Given the description of an element on the screen output the (x, y) to click on. 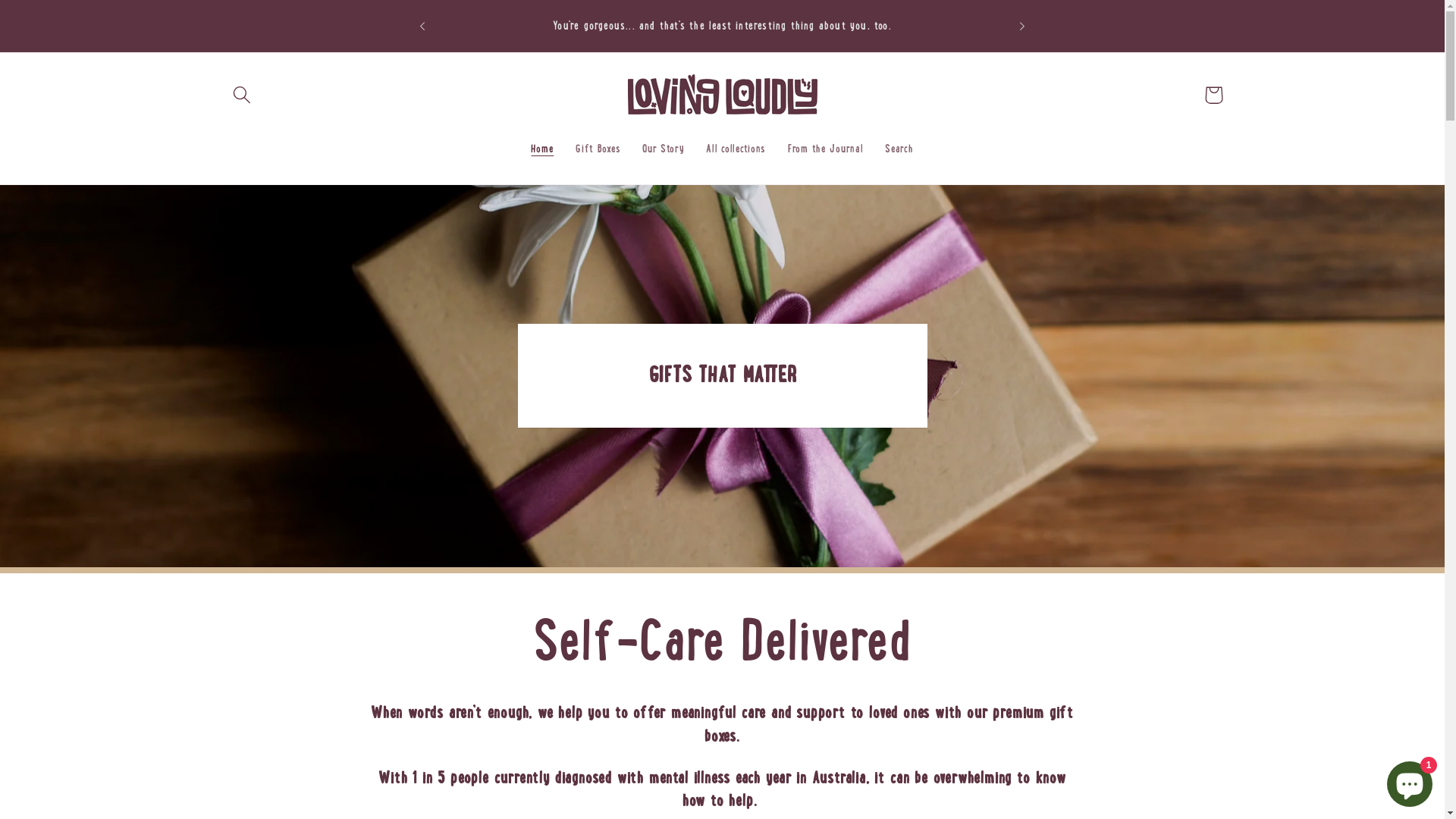
Our Story Element type: text (663, 150)
Shopify online store chat Element type: hover (1409, 780)
Search Element type: text (899, 150)
All collections Element type: text (736, 150)
Cart Element type: text (1213, 95)
Gift Boxes Element type: text (597, 150)
From the Journal Element type: text (825, 150)
Home Element type: text (542, 150)
